Given the description of an element on the screen output the (x, y) to click on. 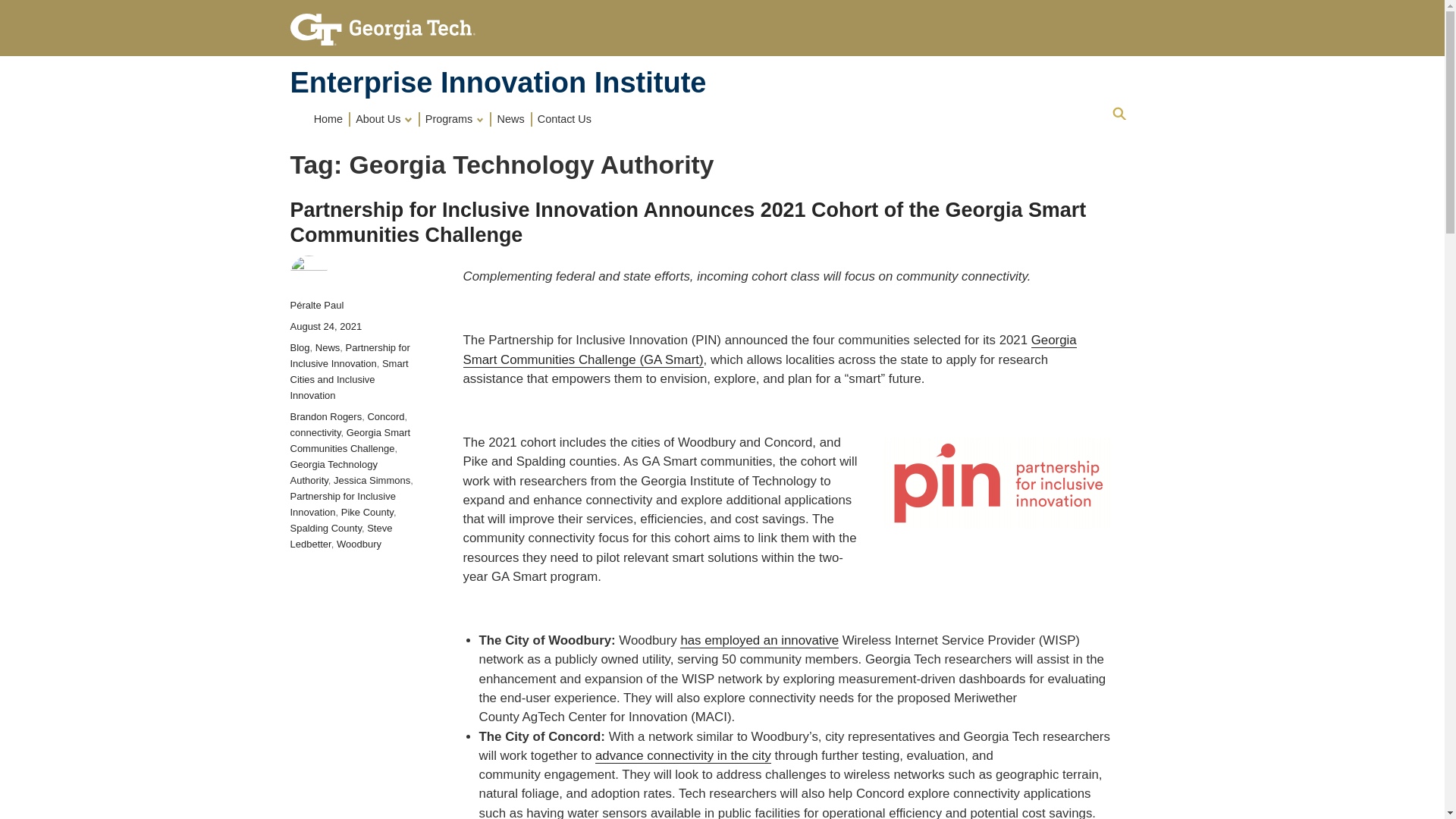
Contact Us (564, 119)
News (511, 119)
Home (328, 119)
has employed an innovative (758, 640)
Programs (456, 119)
Home (497, 82)
advance connectivity in the city (683, 755)
About Us (385, 119)
Enterprise Innovation Institute (497, 82)
